Given the description of an element on the screen output the (x, y) to click on. 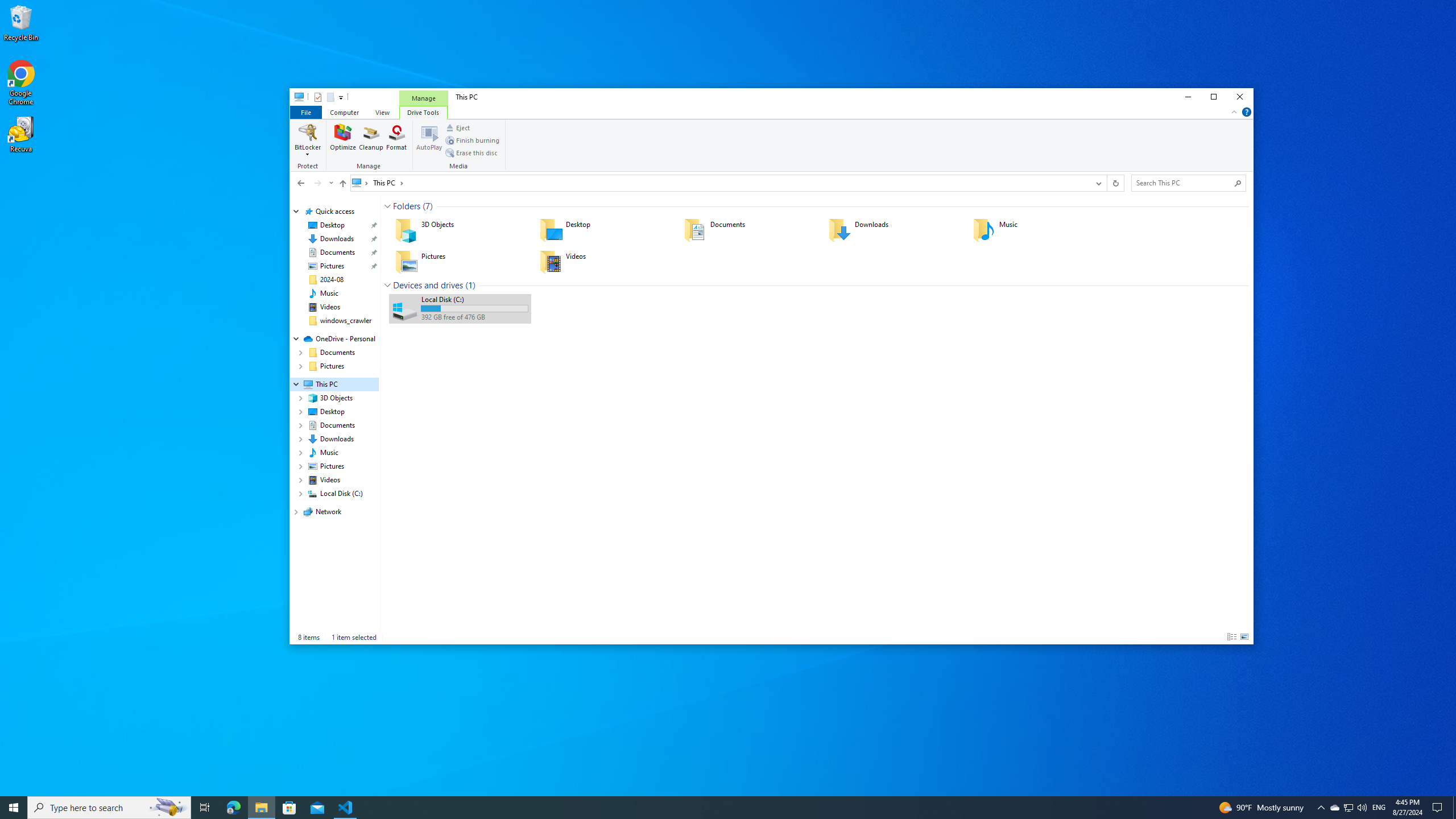
Visual Studio Code - 1 running window (345, 807)
Show desktop (1454, 807)
Forward (Alt + Right Arrow) (317, 182)
Eject (457, 128)
Notification Chevron (1320, 807)
Music (1037, 229)
Name (474, 299)
Start (13, 807)
View (381, 111)
Drive Tools (422, 111)
Downloads (892, 229)
File Explorer - 1 running window (261, 807)
3D Objects (459, 229)
Manage (370, 145)
Quick access (334, 211)
